Given the description of an element on the screen output the (x, y) to click on. 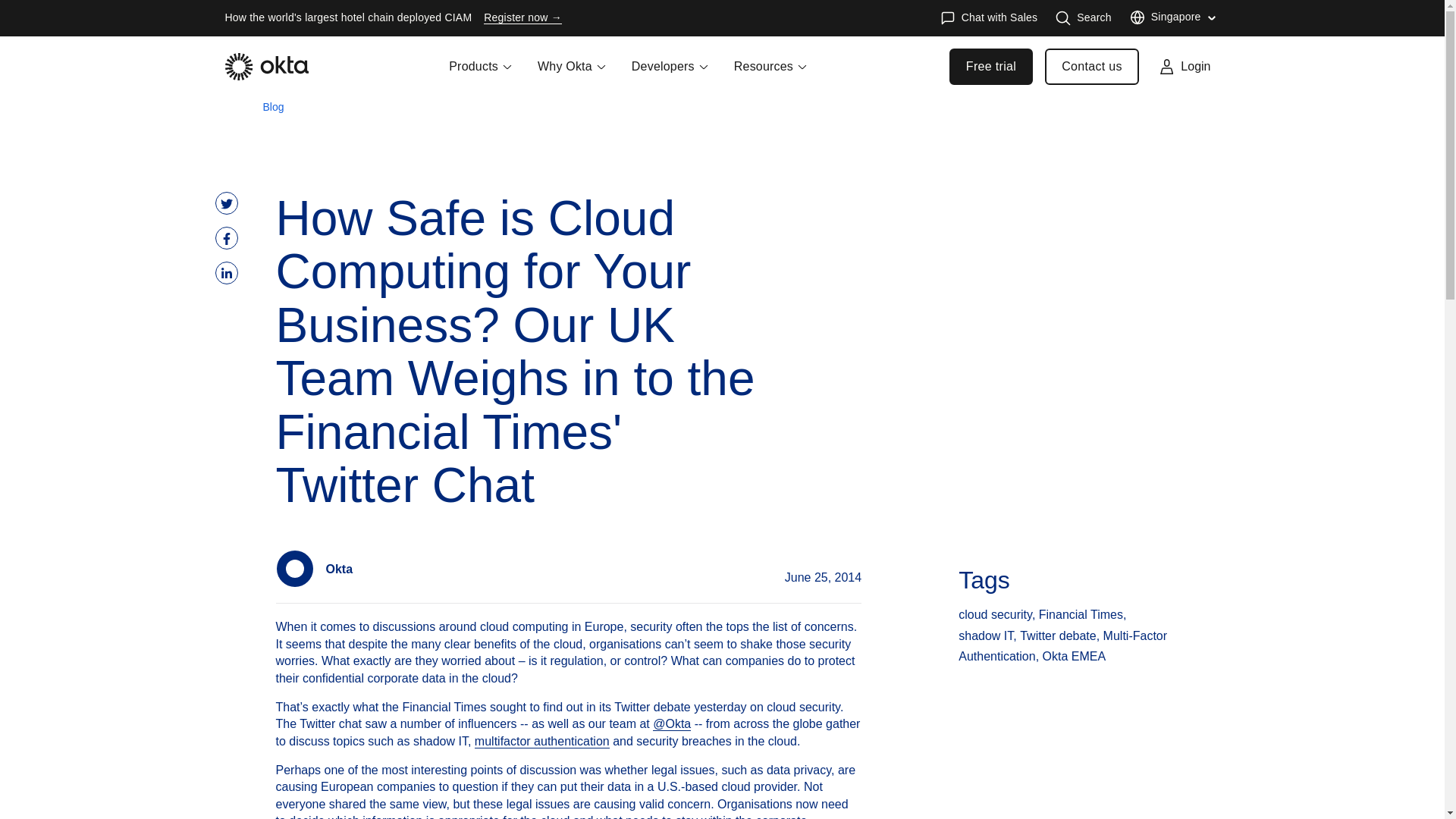
Chat with Sales (988, 18)
Register now (522, 17)
Products (480, 76)
Search (1083, 18)
Why Okta (572, 76)
